Given the description of an element on the screen output the (x, y) to click on. 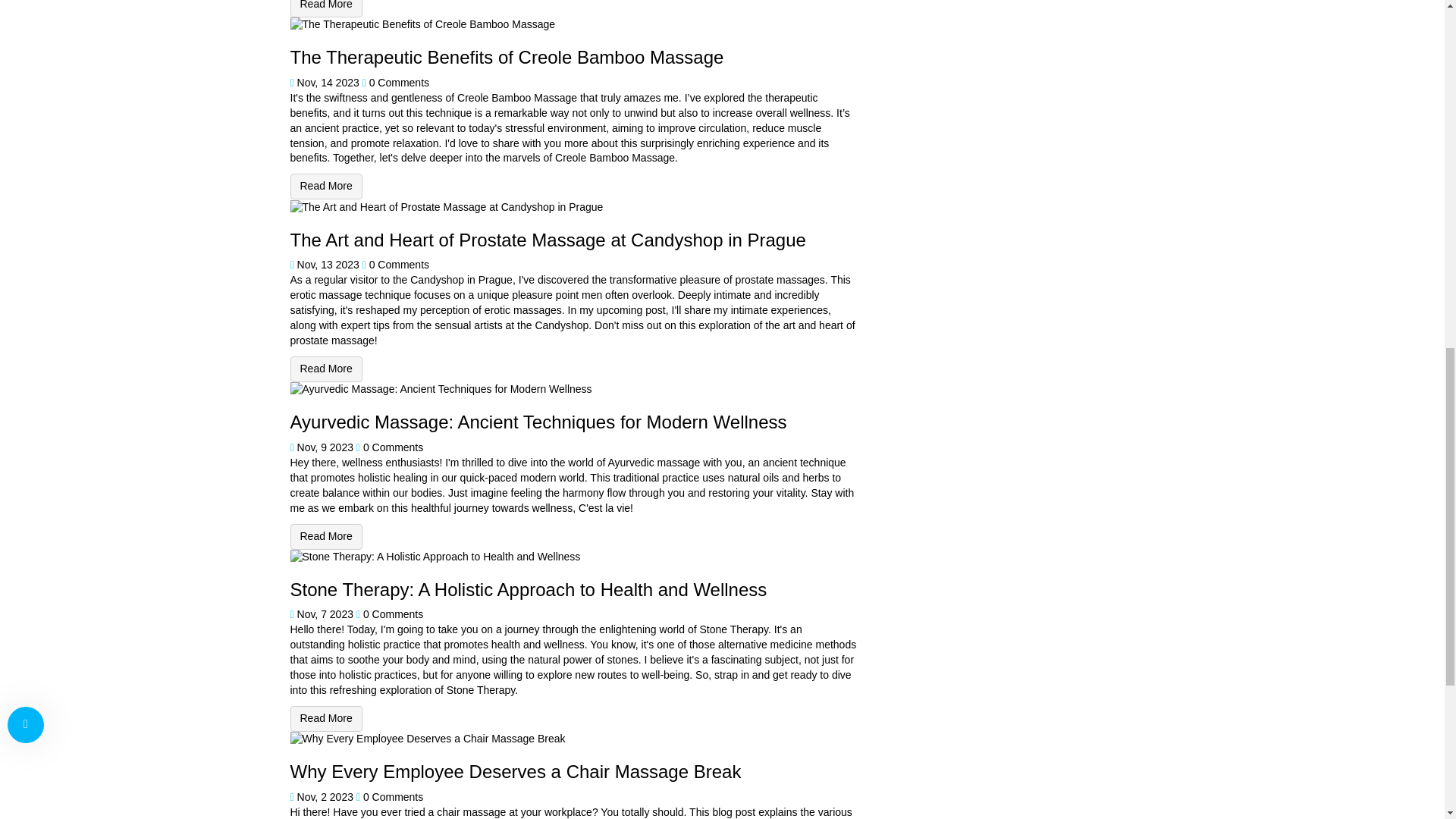
Read More (325, 8)
Read More (325, 536)
Ayurvedic Massage: Ancient Techniques for Modern Wellness (325, 536)
The Therapeutic Benefits of Creole Bamboo Massage (325, 186)
The Unexpected World of Elephant Massage (325, 8)
Read More (325, 718)
The Art and Heart of Prostate Massage at Candyshop in Prague (325, 369)
Read More (325, 186)
Stone Therapy: A Holistic Approach to Health and Wellness (325, 718)
Read More (325, 369)
